Given the description of an element on the screen output the (x, y) to click on. 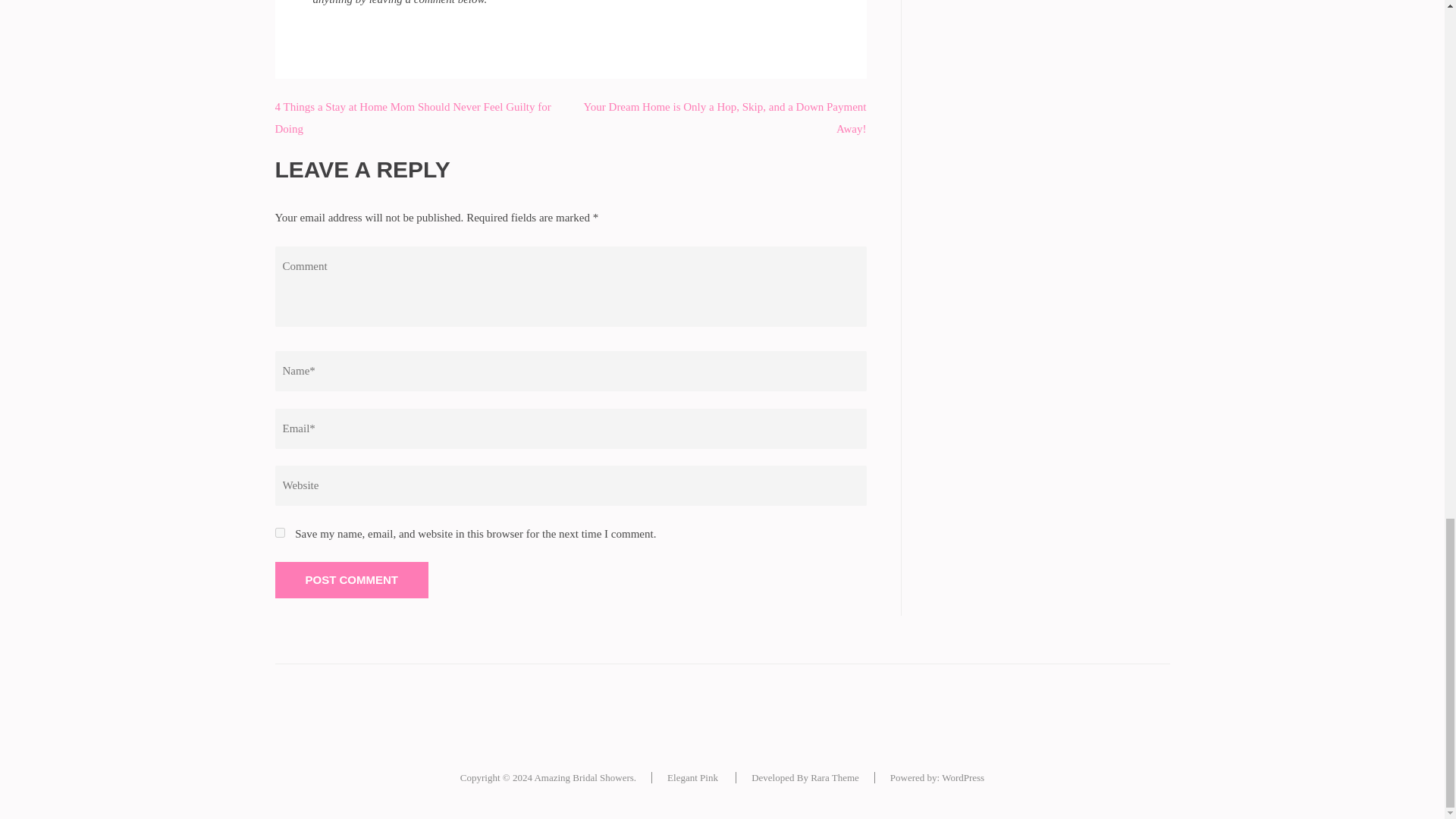
Post Comment (351, 579)
yes (279, 532)
Post Comment (351, 579)
